Given the description of an element on the screen output the (x, y) to click on. 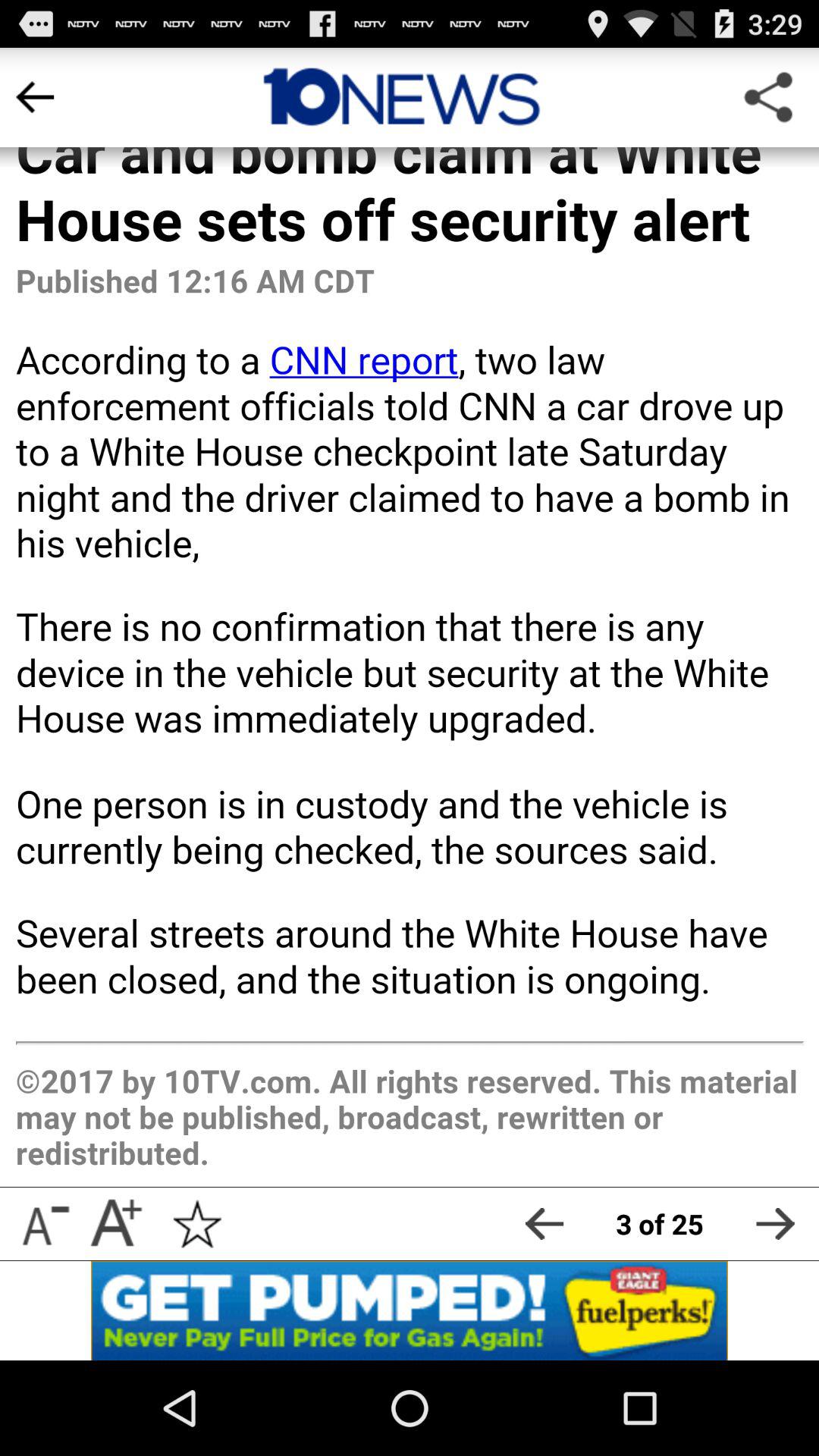
next page (775, 1223)
